Given the description of an element on the screen output the (x, y) to click on. 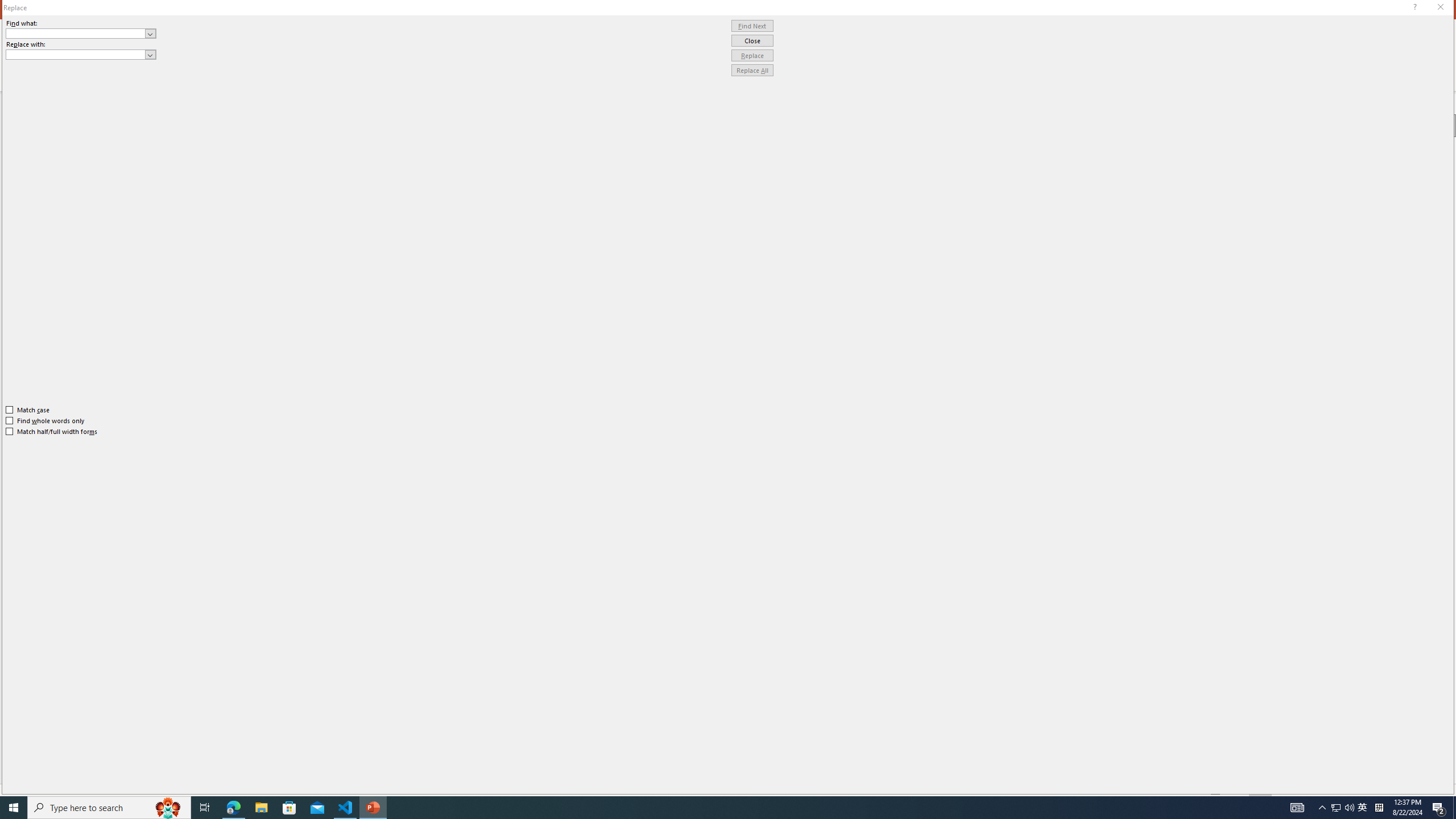
Wavy 3D art (739, 412)
Match half/full width forms (52, 431)
